Given the description of an element on the screen output the (x, y) to click on. 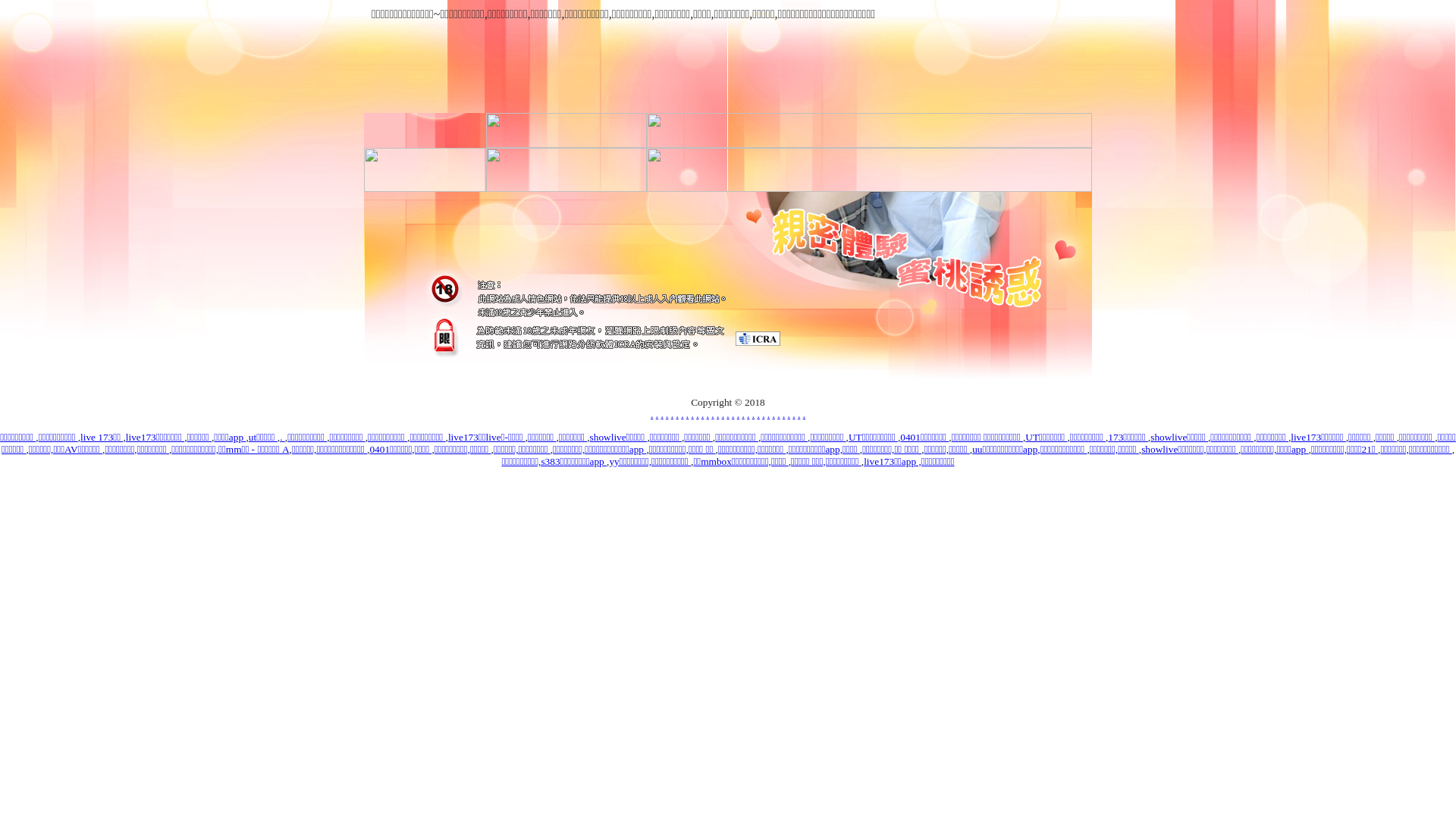
. Element type: text (676, 414)
. Element type: text (707, 414)
. Element type: text (727, 414)
. Element type: text (798, 414)
. Element type: text (804, 414)
. Element type: text (666, 414)
. Element type: text (763, 414)
. Element type: text (702, 414)
. Element type: text (747, 414)
. Element type: text (753, 414)
. Element type: text (783, 414)
. Element type: text (757, 414)
. Element type: text (651, 414)
. Element type: text (681, 414)
. Element type: text (742, 414)
. Element type: text (738, 414)
. Element type: text (697, 414)
. Element type: text (722, 414)
. Element type: text (773, 414)
. Element type: text (282, 436)
. Element type: text (687, 414)
. Element type: text (732, 414)
. Element type: text (788, 414)
. Element type: text (793, 414)
. Element type: text (661, 414)
. Element type: text (712, 414)
. Element type: text (656, 414)
. Element type: text (768, 414)
. Element type: text (672, 414)
. Element type: text (778, 414)
. Element type: text (717, 414)
. Element type: text (692, 414)
